Given the description of an element on the screen output the (x, y) to click on. 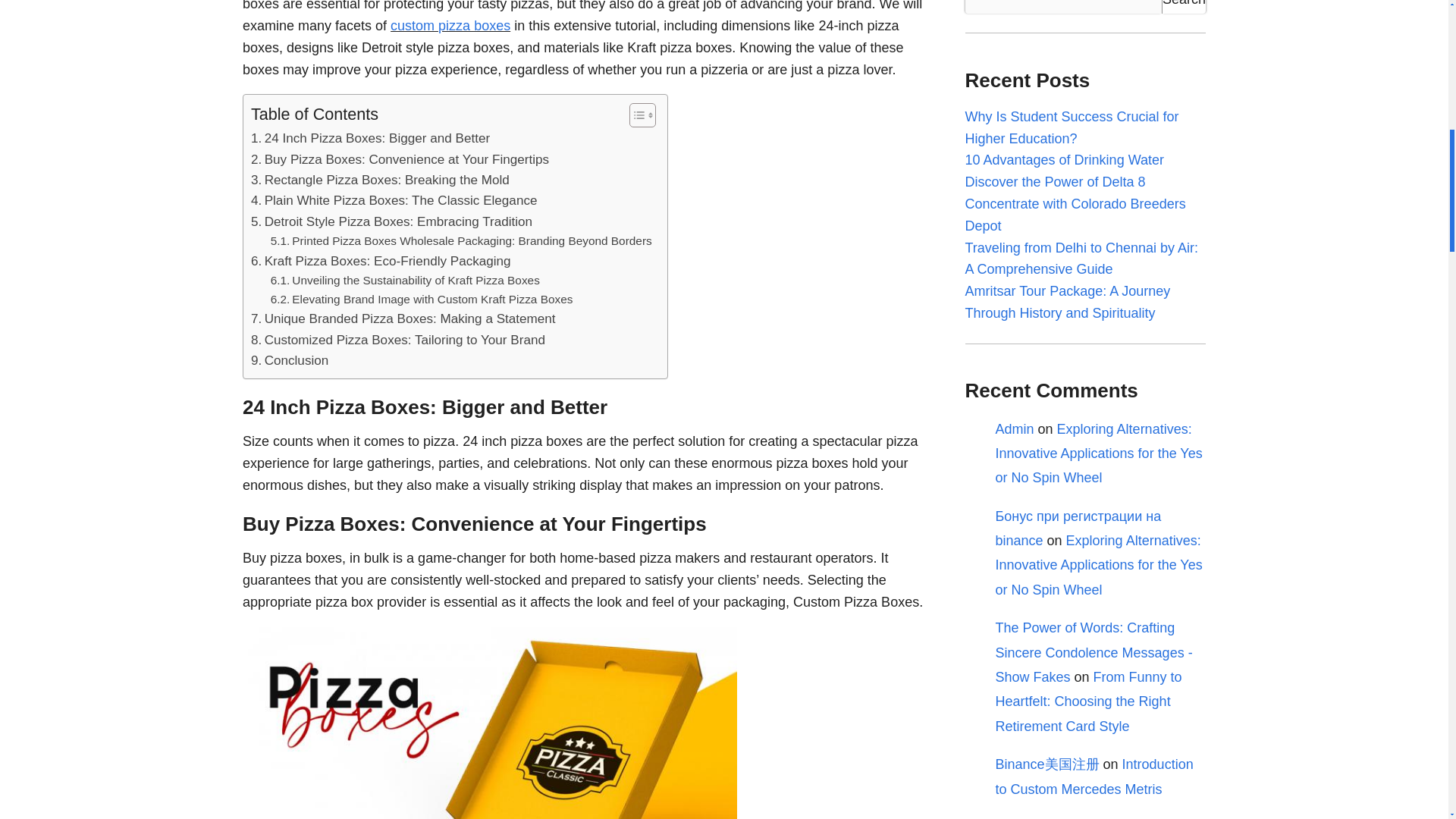
Conclusion (289, 360)
Plain White Pizza Boxes: The Classic Elegance (393, 200)
Rectangle Pizza Boxes: Breaking the Mold (379, 179)
Kraft Pizza Boxes: Eco-Friendly Packaging (380, 260)
Unique Branded Pizza Boxes: Making a Statement (403, 318)
Elevating Brand Image with Custom Kraft Pizza Boxes (421, 299)
Kraft Pizza Boxes: Eco-Friendly Packaging (380, 260)
Unveiling the Sustainability of Kraft Pizza Boxes (405, 280)
Elevating Brand Image with Custom Kraft Pizza Boxes (421, 299)
Buy Pizza Boxes: Convenience at Your Fingertips (399, 159)
24 Inch Pizza Boxes: Bigger and Better (369, 137)
Unique Branded Pizza Boxes: Making a Statement (403, 318)
Detroit Style Pizza Boxes: Embracing Tradition (391, 221)
Plain White Pizza Boxes: The Classic Elegance (393, 200)
